Given the description of an element on the screen output the (x, y) to click on. 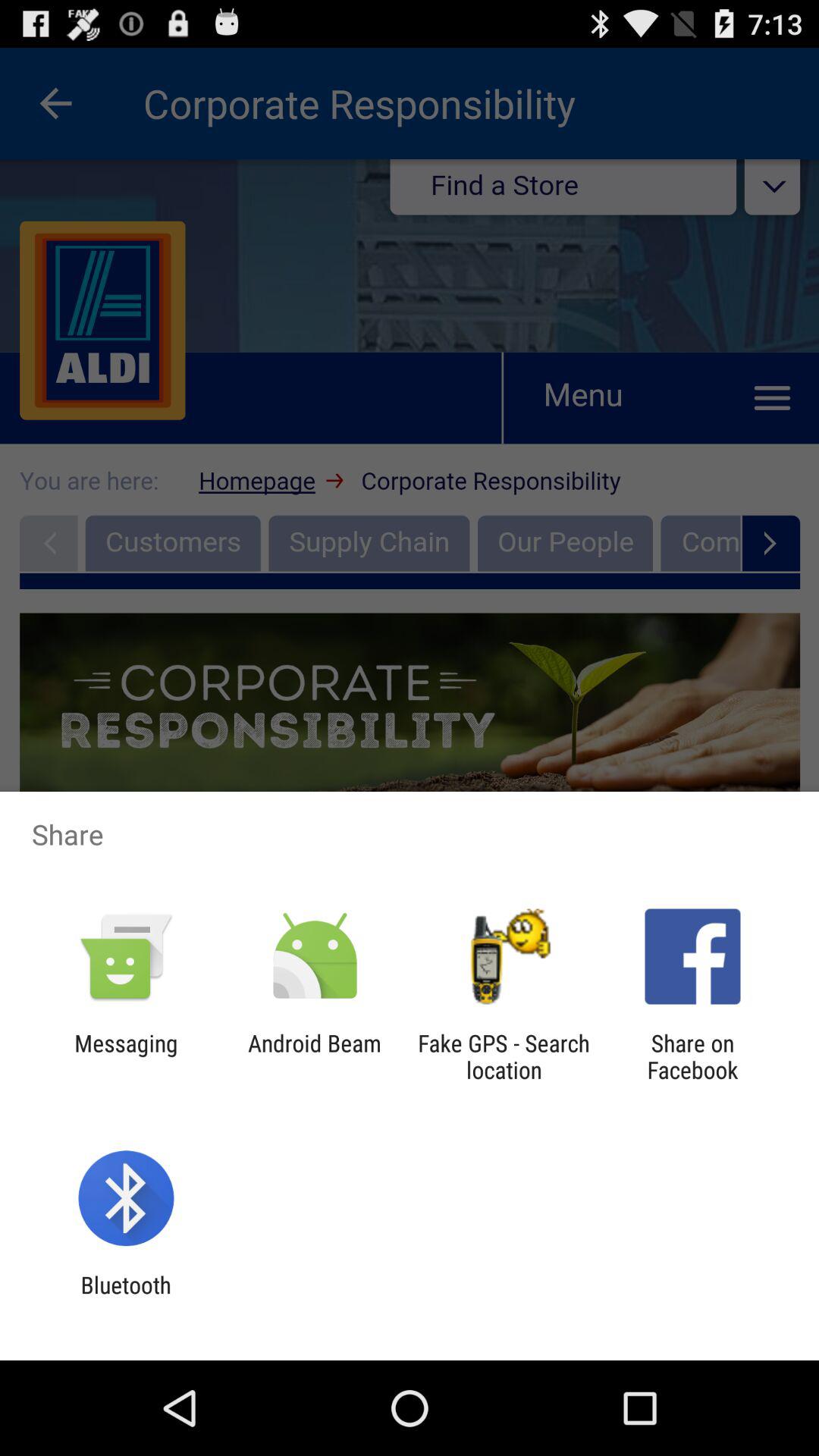
choose the app to the left of the fake gps search app (314, 1056)
